Given the description of an element on the screen output the (x, y) to click on. 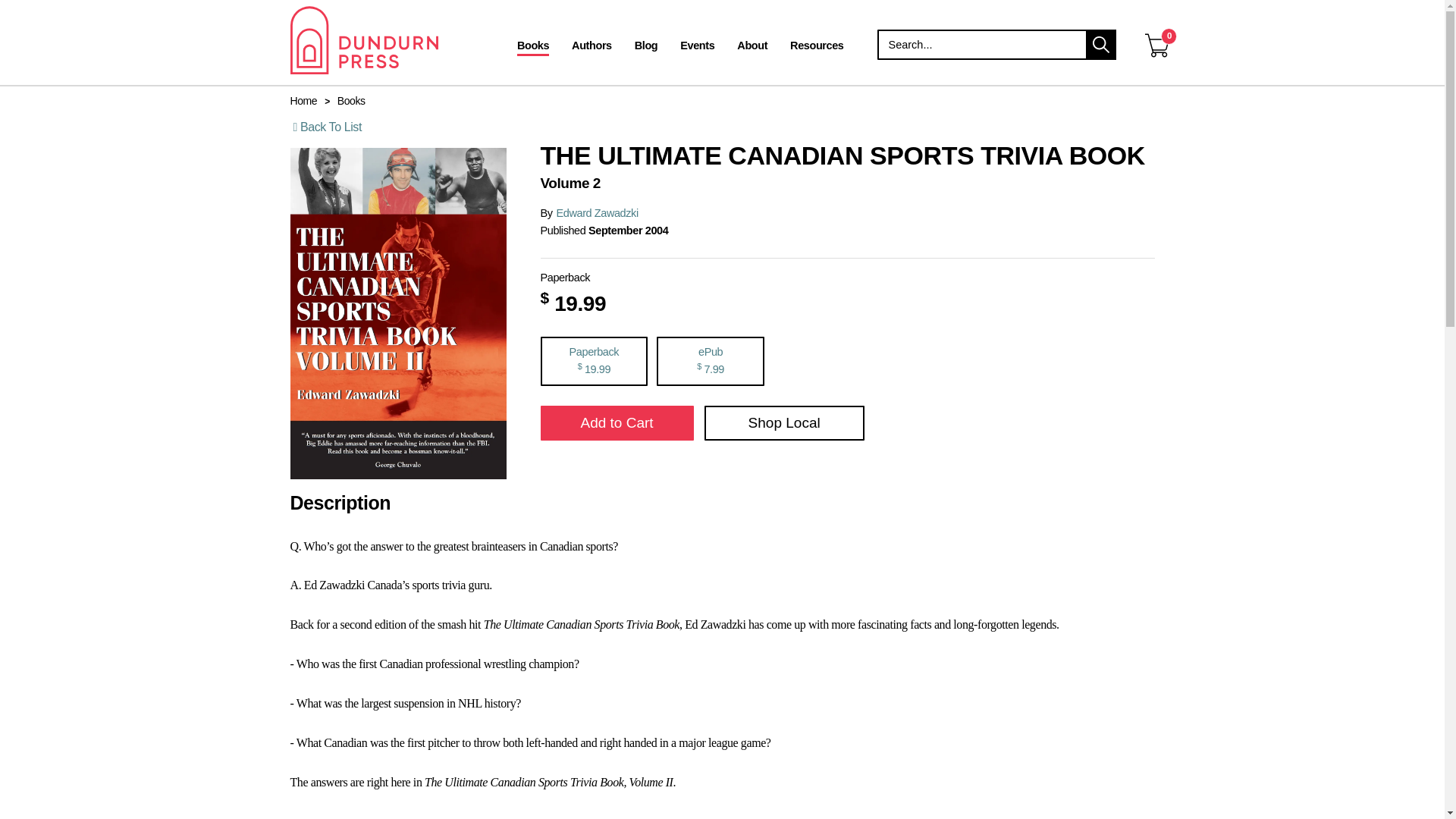
Books (351, 101)
Edward Zawadzki (597, 213)
Books (532, 46)
 Back To List (327, 126)
Events (696, 46)
Home (303, 101)
Find an independent bookseller near you (784, 423)
Add to Cart (616, 423)
Blog (646, 46)
About (751, 46)
Shop Local (784, 423)
Authors (591, 46)
Resources (816, 46)
search (1101, 44)
Dundurn - Publishers of fine books (389, 39)
